Given the description of an element on the screen output the (x, y) to click on. 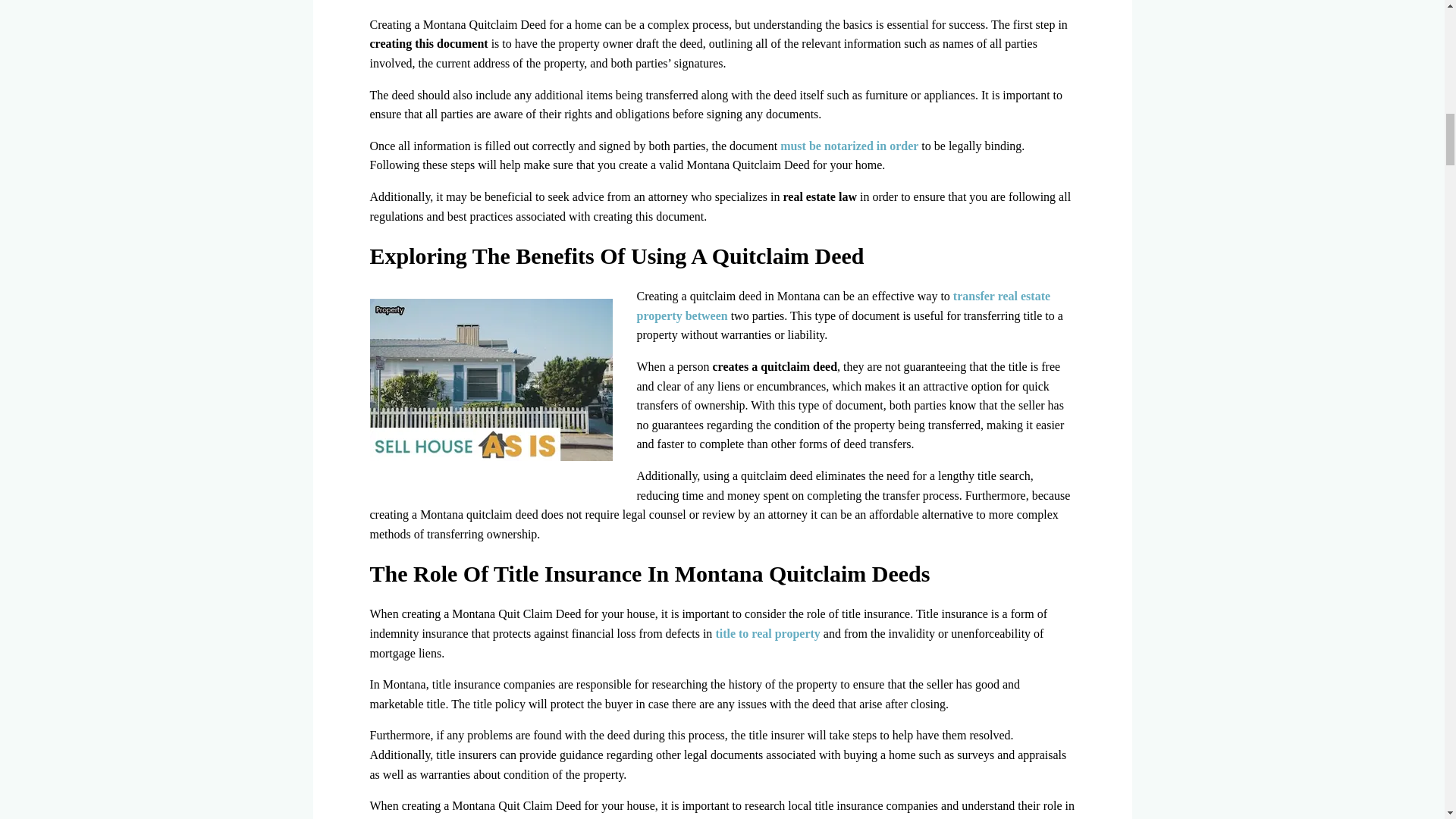
title to real property (766, 633)
must be notarized in order (849, 145)
transfer real estate property between (844, 305)
